Given the description of an element on the screen output the (x, y) to click on. 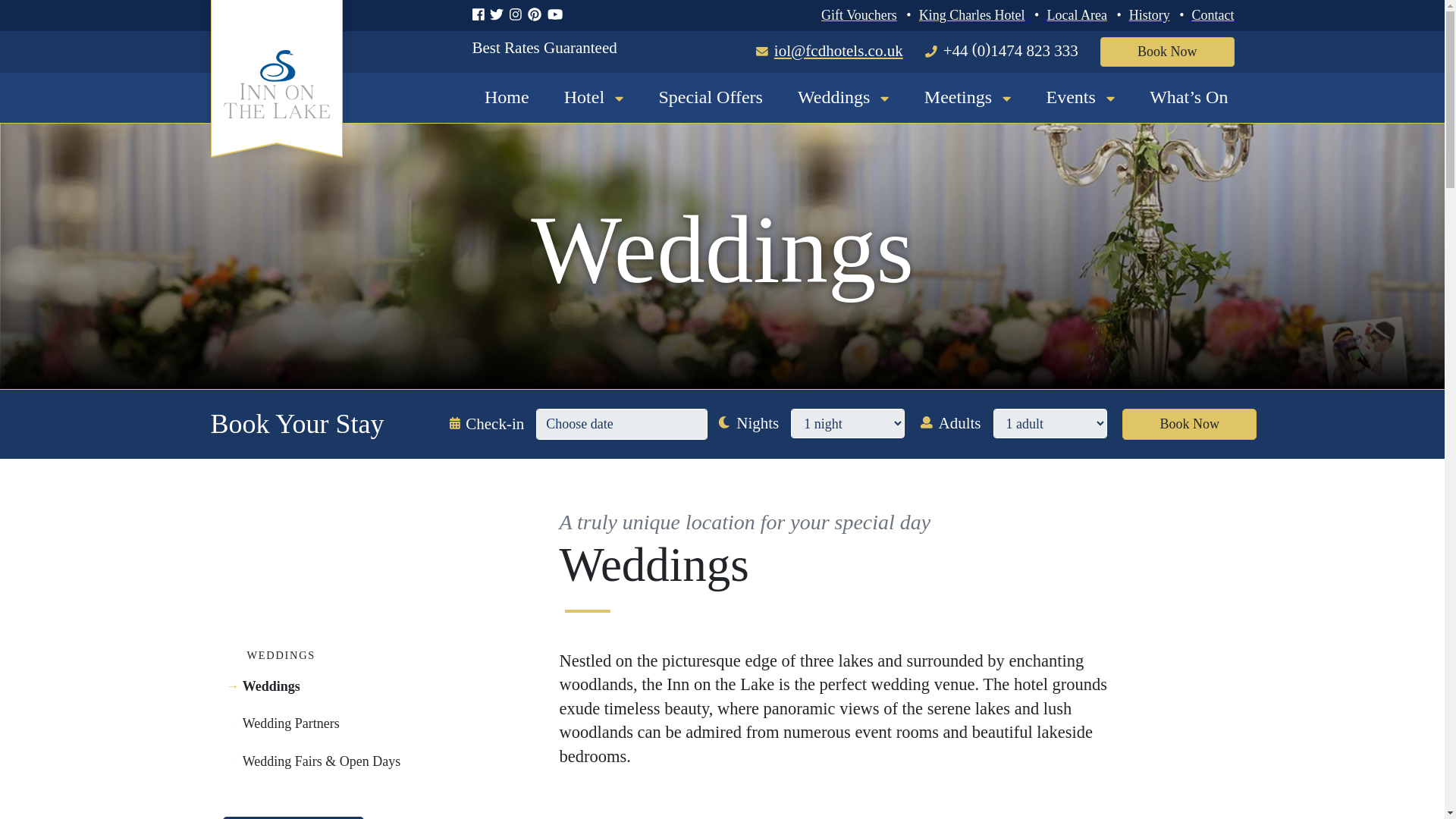
Instagram (518, 15)
Facebook (480, 15)
Weddings (843, 97)
Home (507, 97)
Pinterest (537, 15)
Contact (1213, 14)
Hotel (593, 97)
Events (1081, 97)
Local Area (1076, 14)
Twitter (499, 15)
King Charles Hotel (971, 14)
Youtube (558, 15)
Special Offers (710, 97)
Book Now (1167, 51)
Meetings (967, 97)
